Given the description of an element on the screen output the (x, y) to click on. 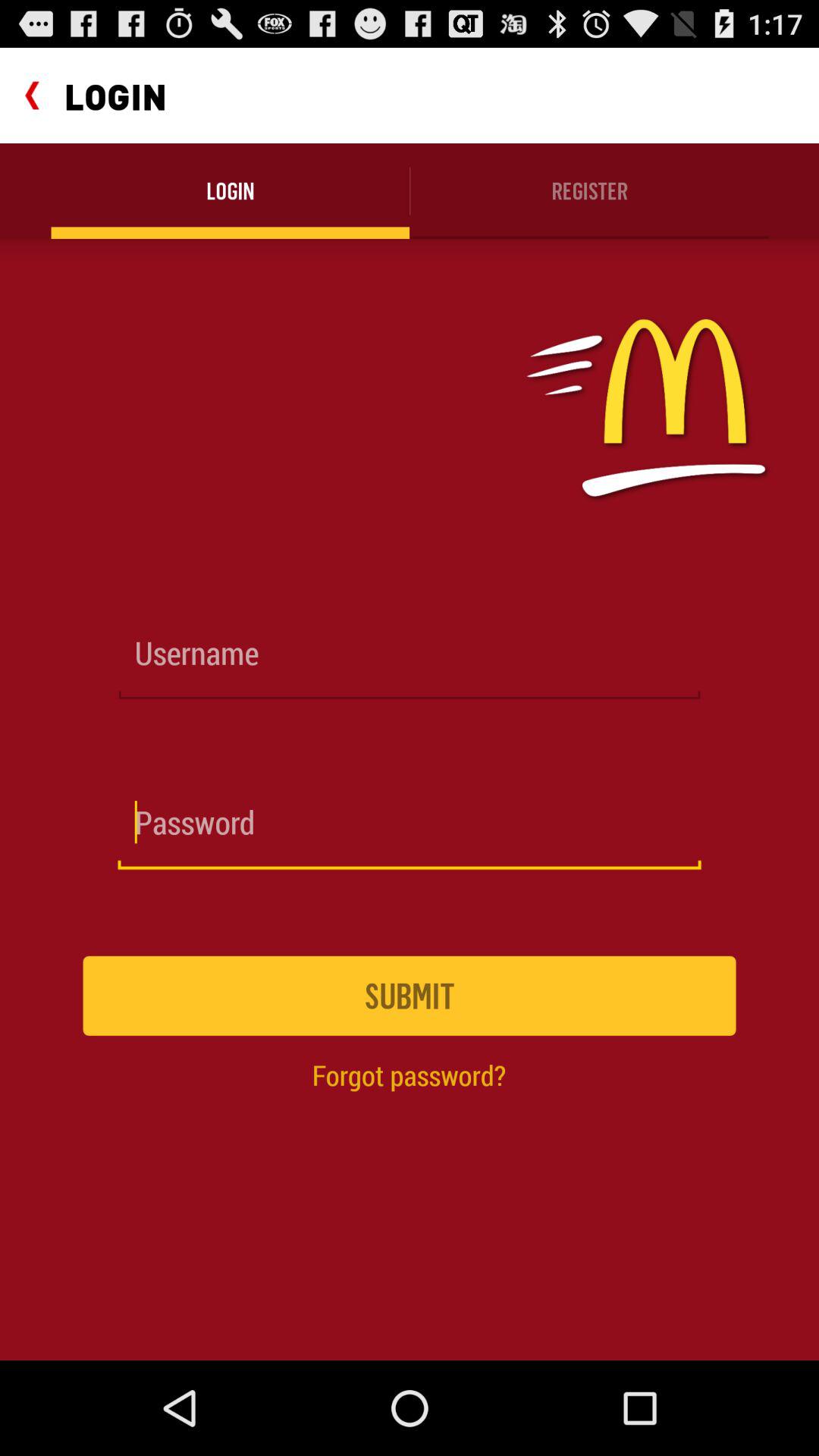
select the icon below submit (409, 1074)
